Given the description of an element on the screen output the (x, y) to click on. 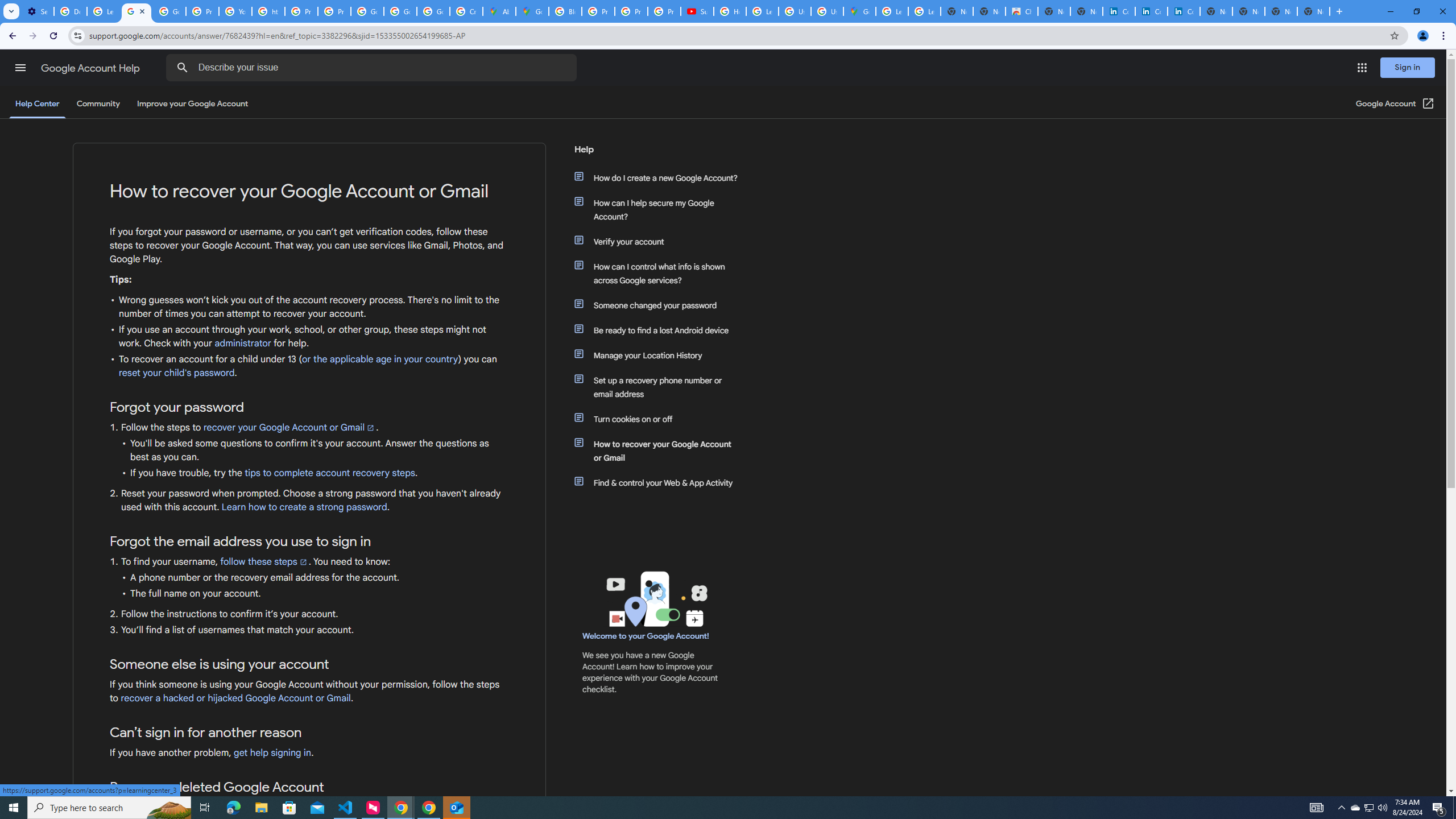
Google Maps (859, 11)
New Tab (1313, 11)
Search Help Center (181, 67)
Cookie Policy | LinkedIn (1150, 11)
Copyright Policy (1183, 11)
Manage your Location History (661, 355)
Welcome to your Google Account! (645, 635)
Settings - Customize profile (37, 11)
Find & control your Web & App Activity (661, 482)
Chrome Web Store (1021, 11)
Privacy Help Center - Policies Help (301, 11)
tips to complete account recovery steps (330, 473)
